Given the description of an element on the screen output the (x, y) to click on. 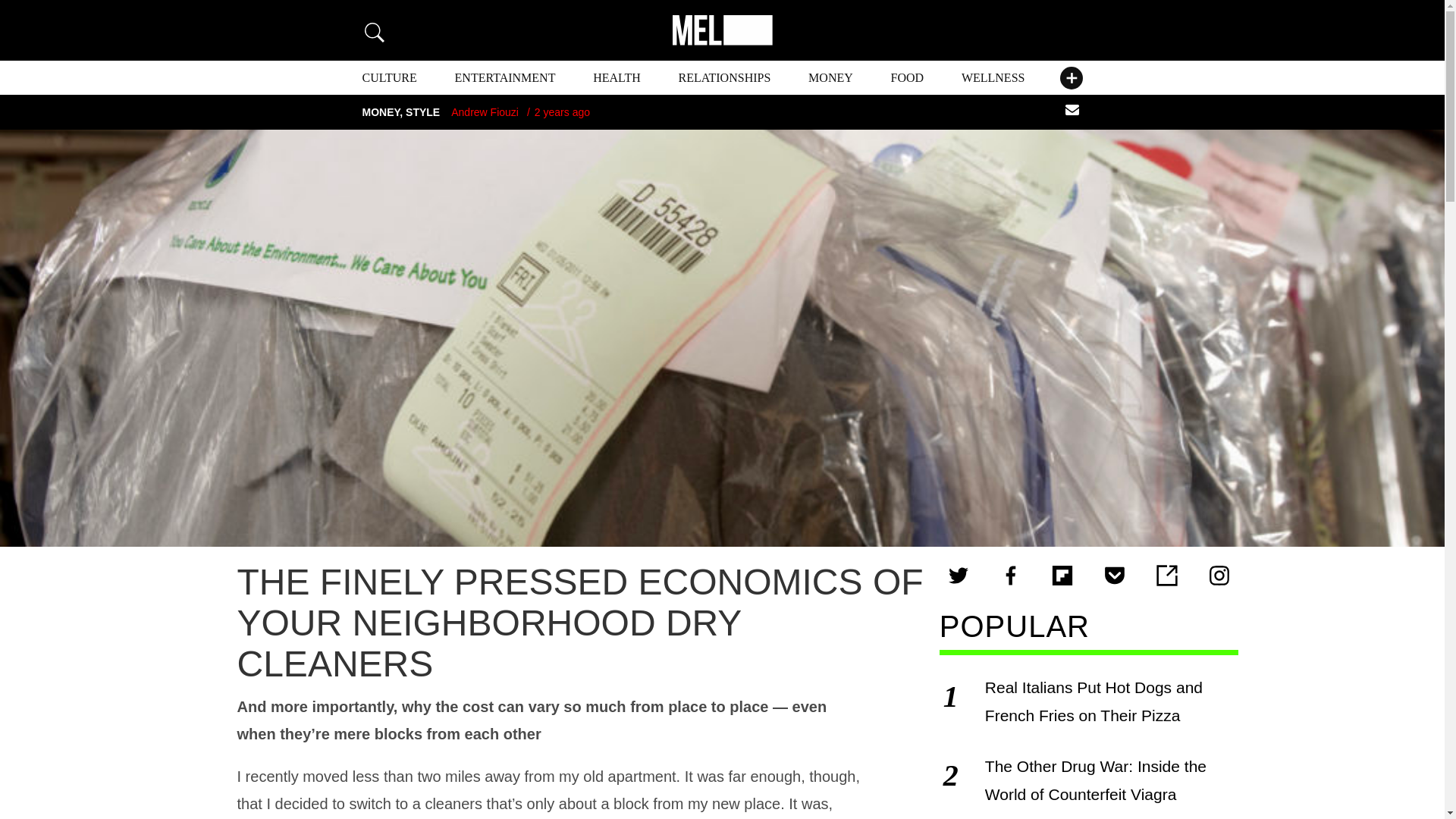
MEL Magazine (721, 30)
HEALTH (616, 77)
Instagram (1219, 575)
CULTURE (389, 77)
Flipboard (1061, 575)
WELLNESS (992, 77)
Pocket (1114, 575)
MONEY (830, 77)
Posts by Andrew Fiouzi (484, 111)
RELATIONSHIPS (724, 77)
